Given the description of an element on the screen output the (x, y) to click on. 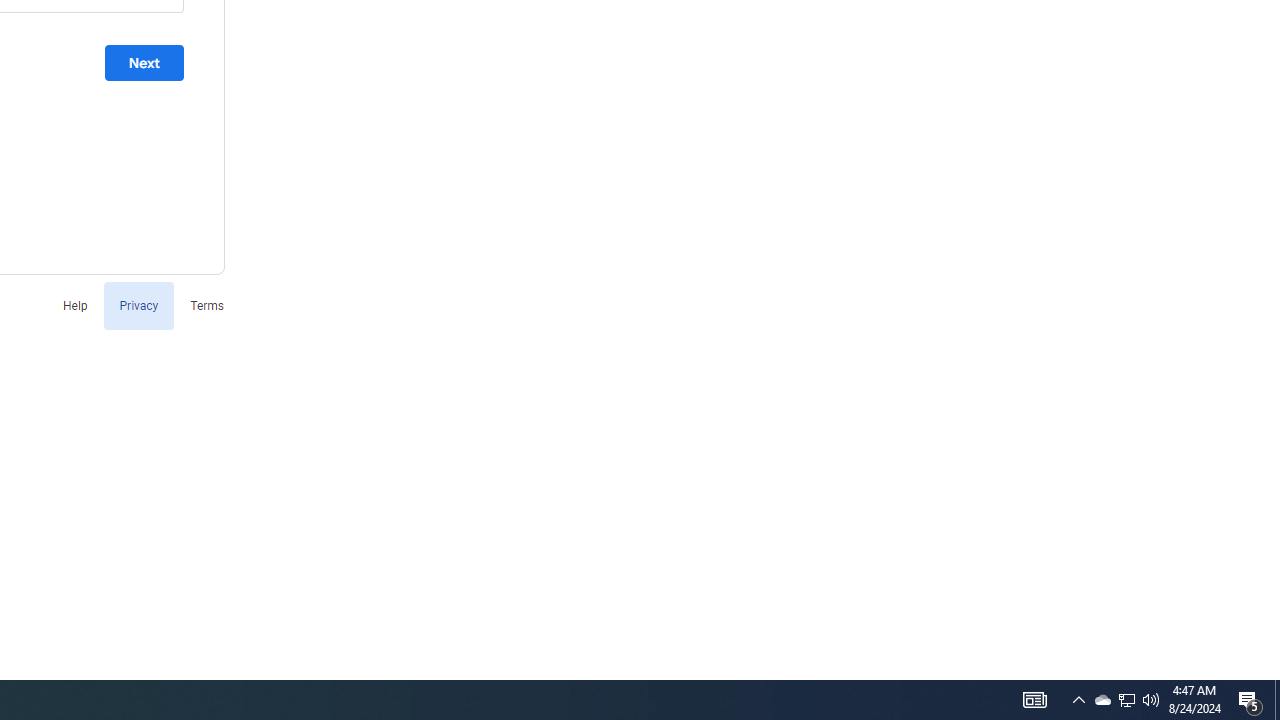
Next (143, 63)
Terms (207, 304)
Privacy (138, 304)
Help (74, 304)
